Given the description of an element on the screen output the (x, y) to click on. 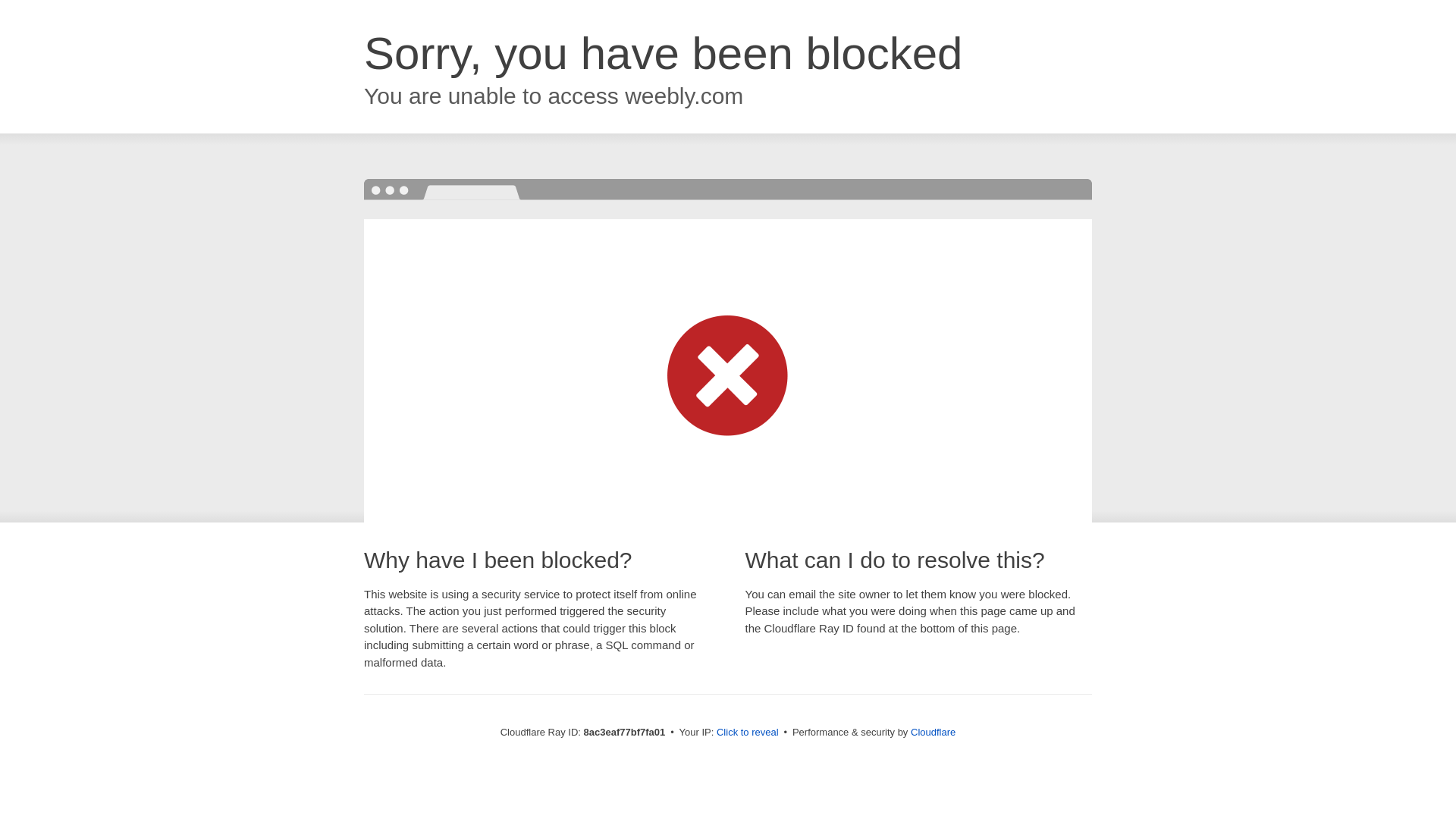
Cloudflare (933, 731)
Click to reveal (747, 732)
